Given the description of an element on the screen output the (x, y) to click on. 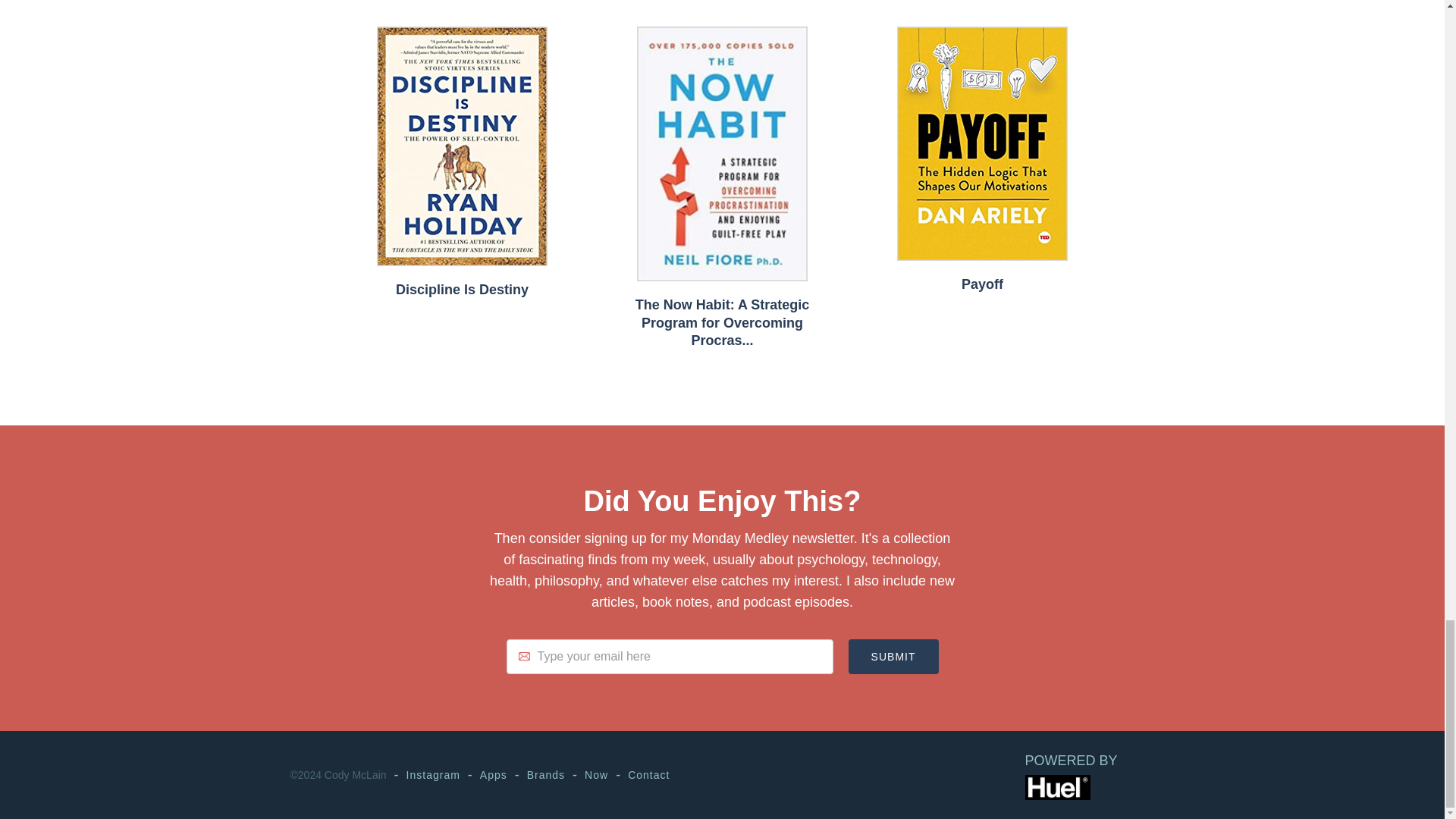
Brands (545, 775)
Apps (493, 775)
Now (596, 775)
Instagram (433, 775)
Contact (648, 775)
SUBMIT (893, 656)
SUBMIT (893, 656)
